Given the description of an element on the screen output the (x, y) to click on. 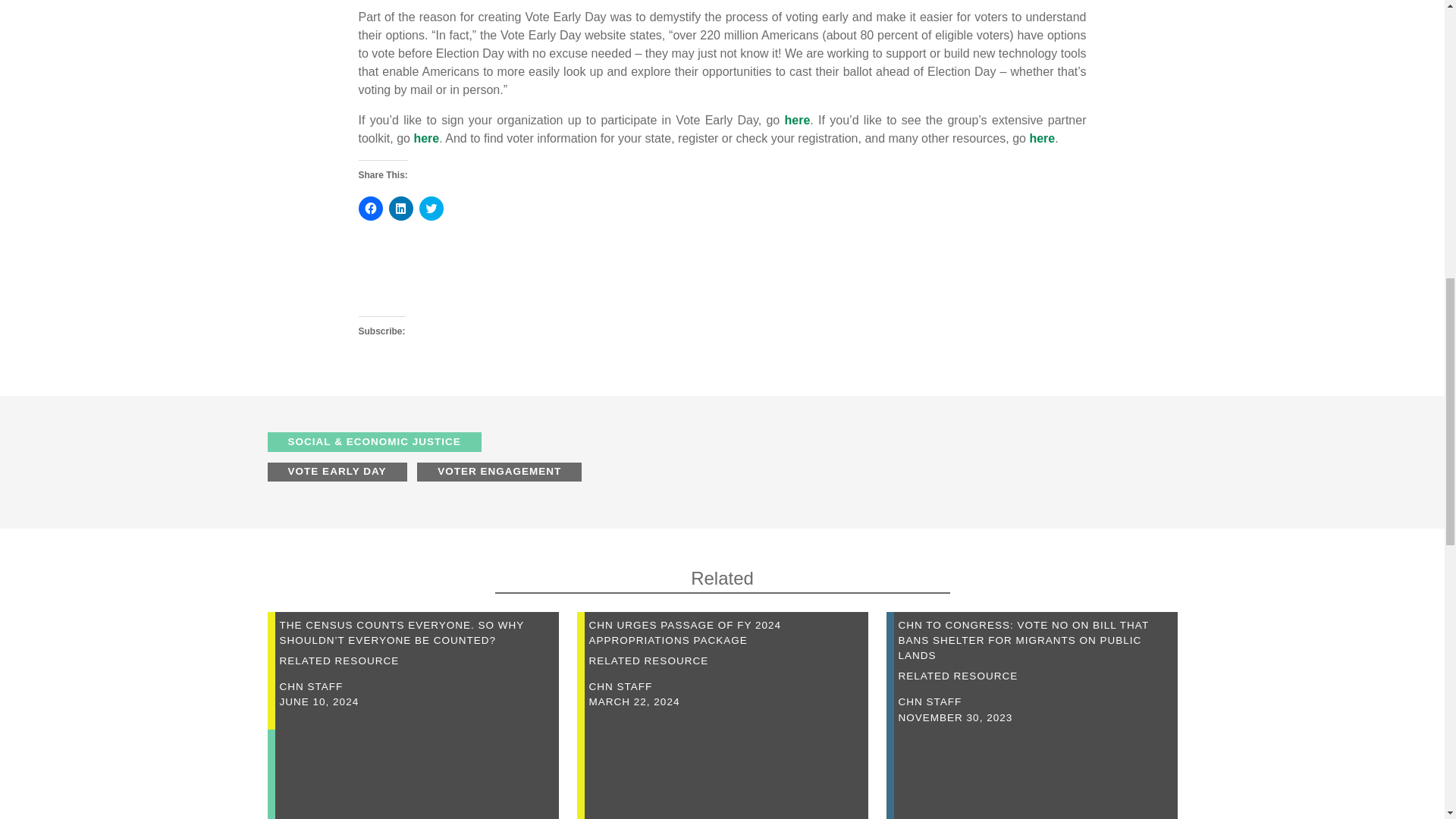
Click to share on Twitter (430, 208)
here (426, 137)
Click to share on LinkedIn (400, 208)
here (797, 119)
here (1041, 137)
Click to share on Facebook (369, 208)
